Given the description of an element on the screen output the (x, y) to click on. 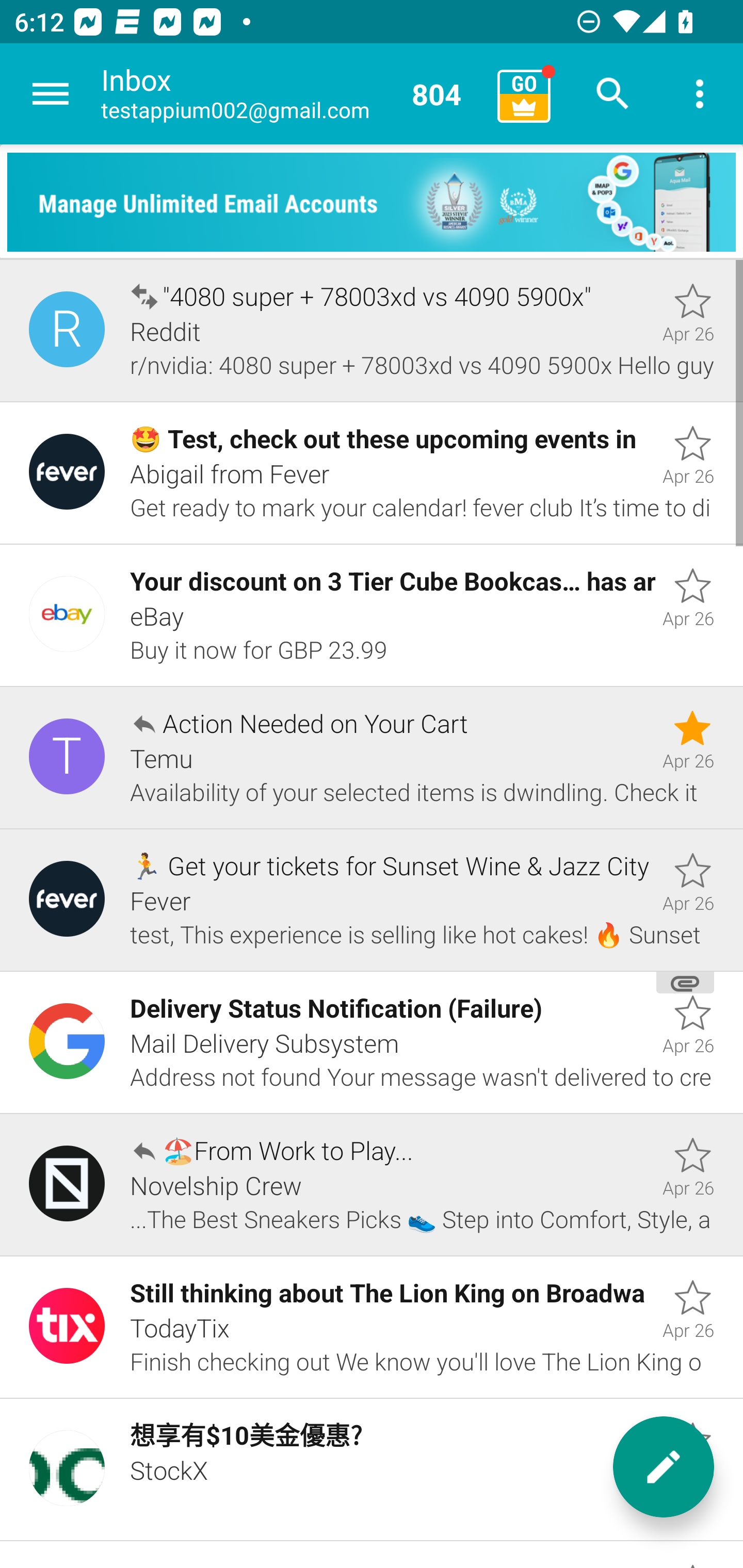
Navigate up (50, 93)
Inbox testappium002@gmail.com 804 (291, 93)
Search (612, 93)
More options (699, 93)
Unread, 想享有$10美金優惠?, StockX, Apr 26 (371, 1469)
New message (663, 1466)
